Given the description of an element on the screen output the (x, y) to click on. 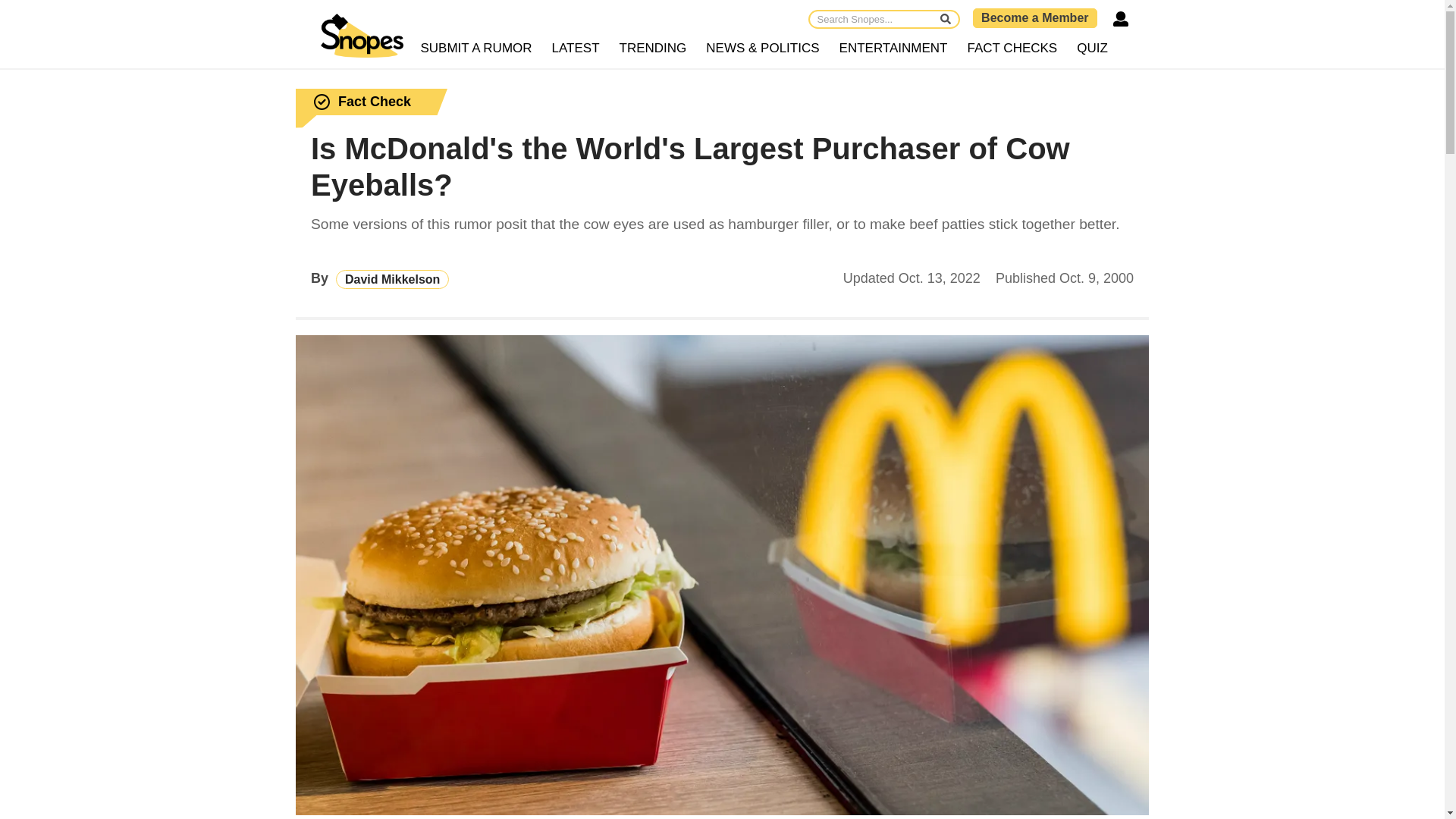
QUIZ (1092, 47)
ENTERTAINMENT (893, 47)
FACT CHECKS (1011, 47)
SUBMIT A RUMOR (475, 47)
Become a Member (1034, 17)
TRENDING (653, 47)
LATEST (576, 47)
David Mikkelson (392, 279)
